Given the description of an element on the screen output the (x, y) to click on. 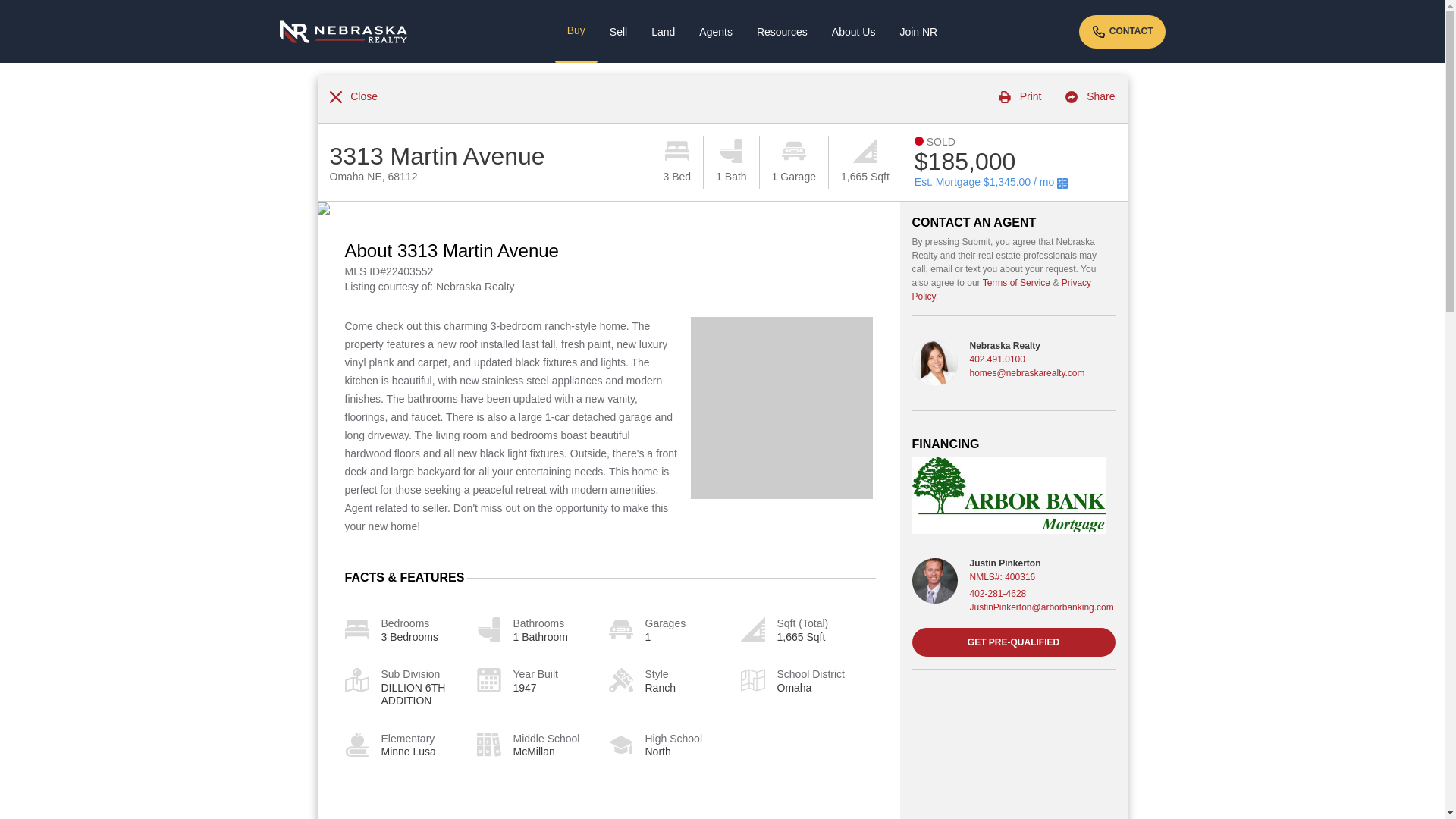
About Us (853, 31)
Agents (715, 31)
Resources (781, 31)
